Given the description of an element on the screen output the (x, y) to click on. 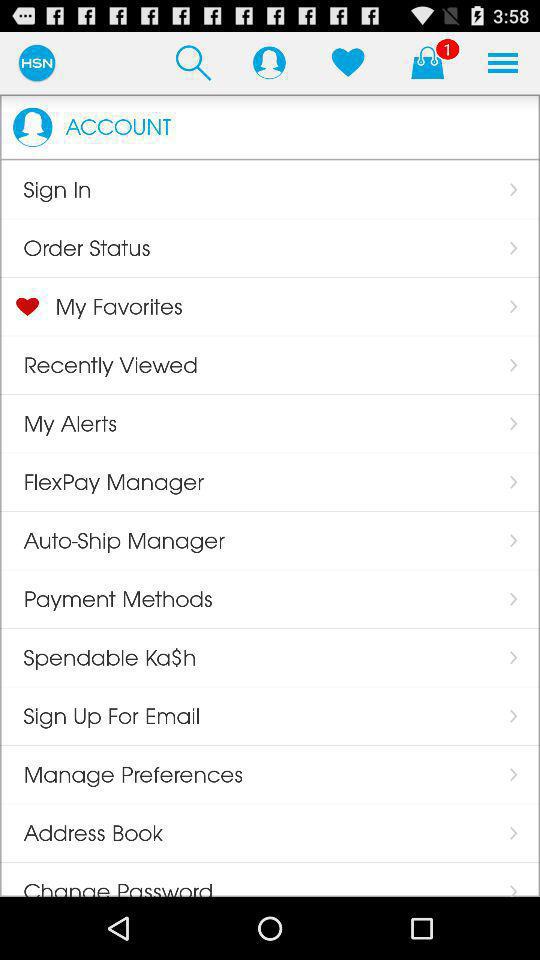
press app above flexpay manager app (58, 423)
